Given the description of an element on the screen output the (x, y) to click on. 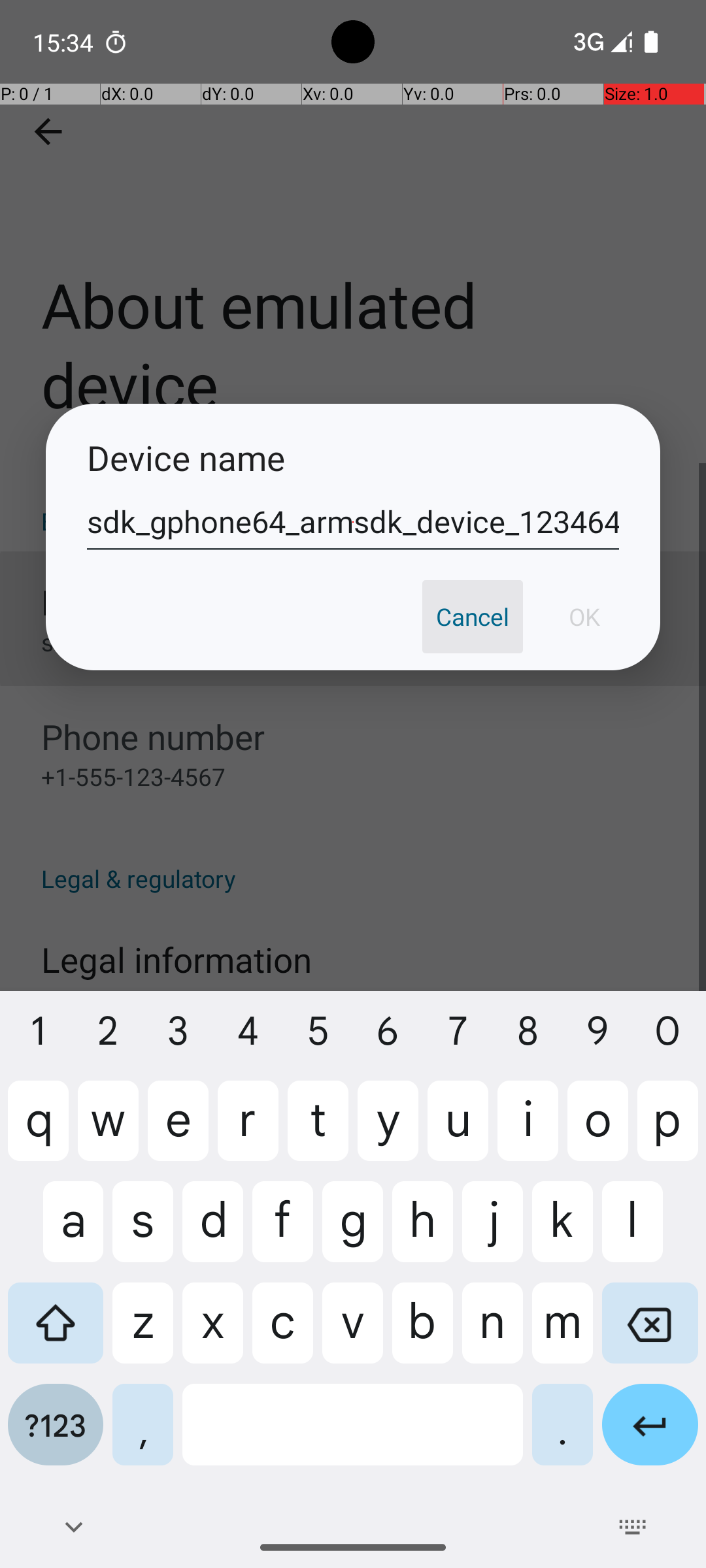
sdk_gphone64_armsdk_device_123464 Element type: android.widget.EditText (352, 521)
